Given the description of an element on the screen output the (x, y) to click on. 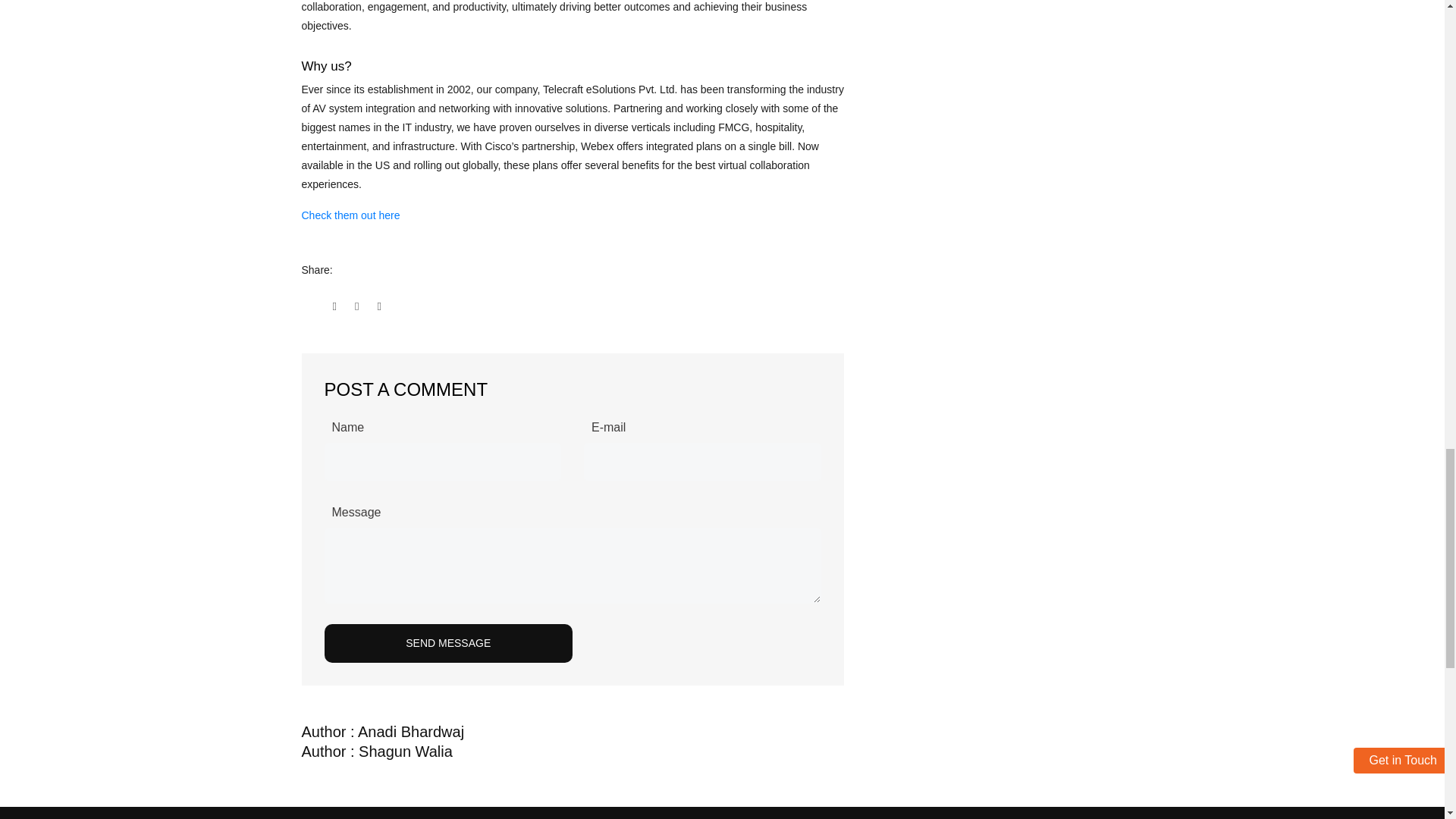
Check them out here (350, 215)
SEND MESSAGE (448, 643)
